Given the description of an element on the screen output the (x, y) to click on. 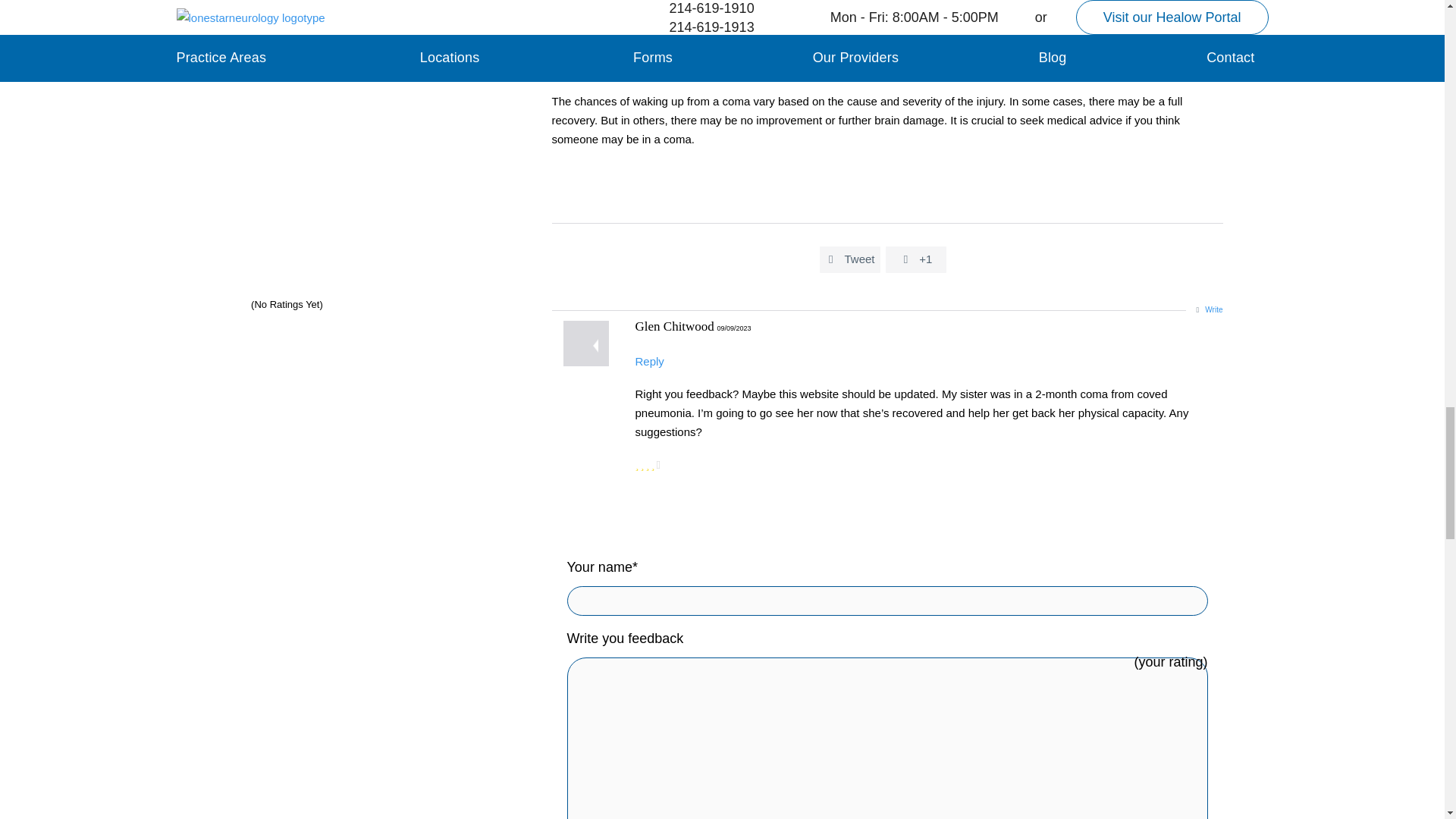
Share on Twitter (849, 258)
3 Stars (218, 301)
1 Star (193, 301)
4 Stars (229, 301)
Share on Google Plus (915, 258)
2 Stars (206, 301)
5 Stars (241, 301)
